Given the description of an element on the screen output the (x, y) to click on. 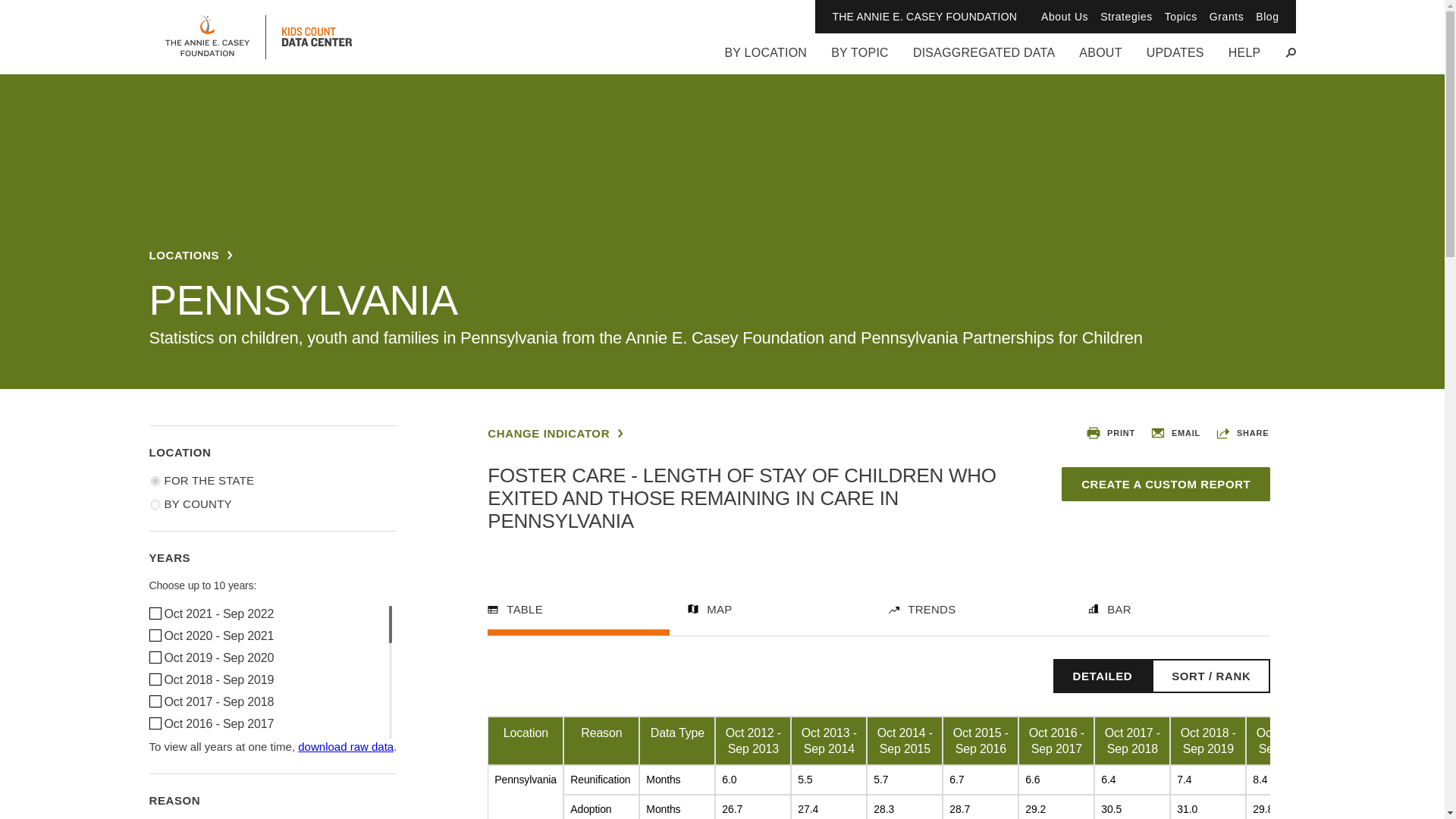
UPDATES (1175, 59)
About Us (1064, 16)
2481 (154, 679)
THE ANNIE E. CASEY FOUNDATION (923, 16)
Grants (1226, 16)
BY TOPIC (859, 59)
Blog (1266, 16)
LOCATIONS (190, 254)
download raw data (345, 746)
HELP (1244, 59)
Strategies (1126, 16)
2630 (154, 613)
DISAGGREGATED DATA (983, 59)
Topics (1180, 16)
